Given the description of an element on the screen output the (x, y) to click on. 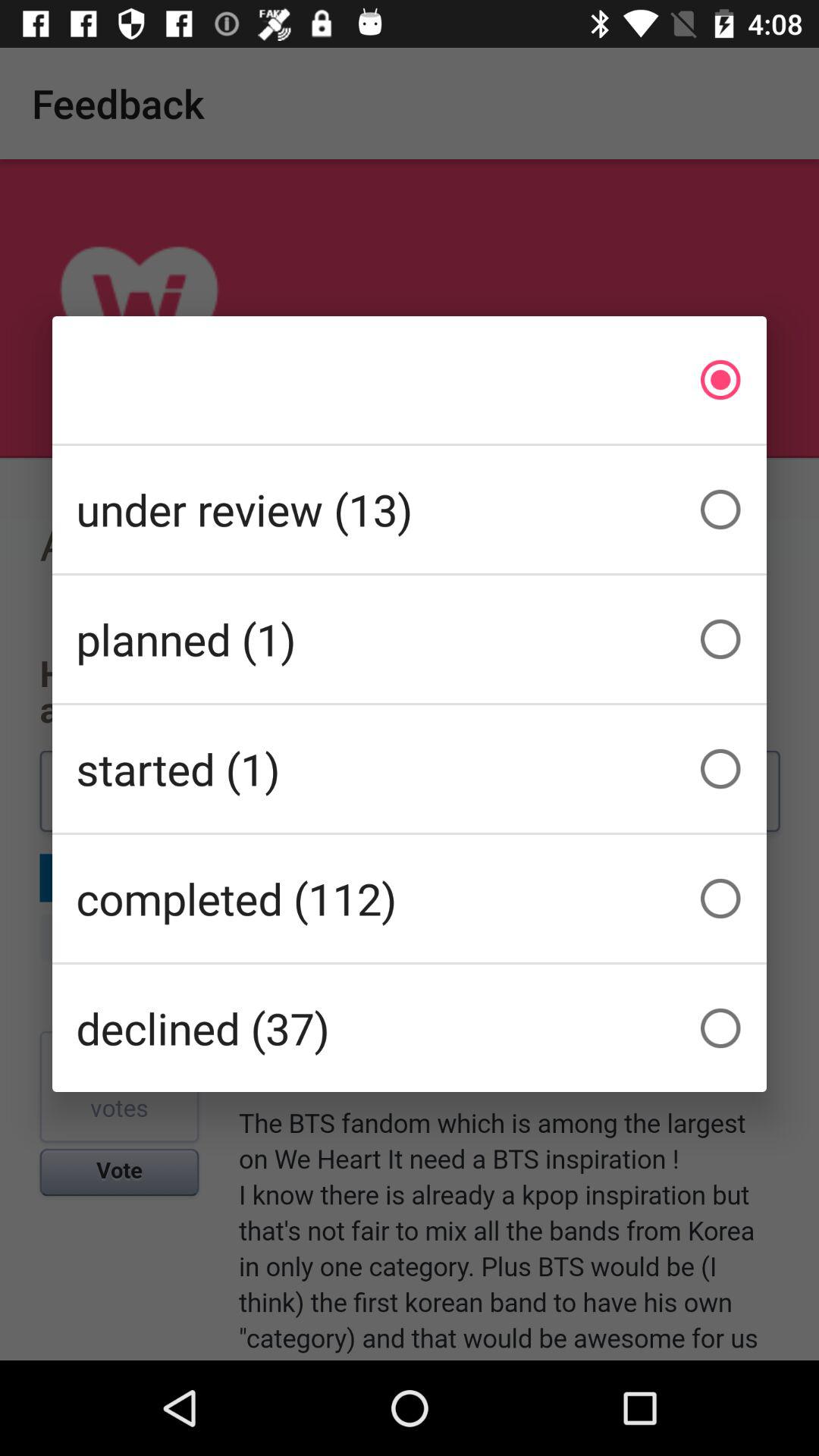
swipe to the under review (13) item (409, 509)
